Given the description of an element on the screen output the (x, y) to click on. 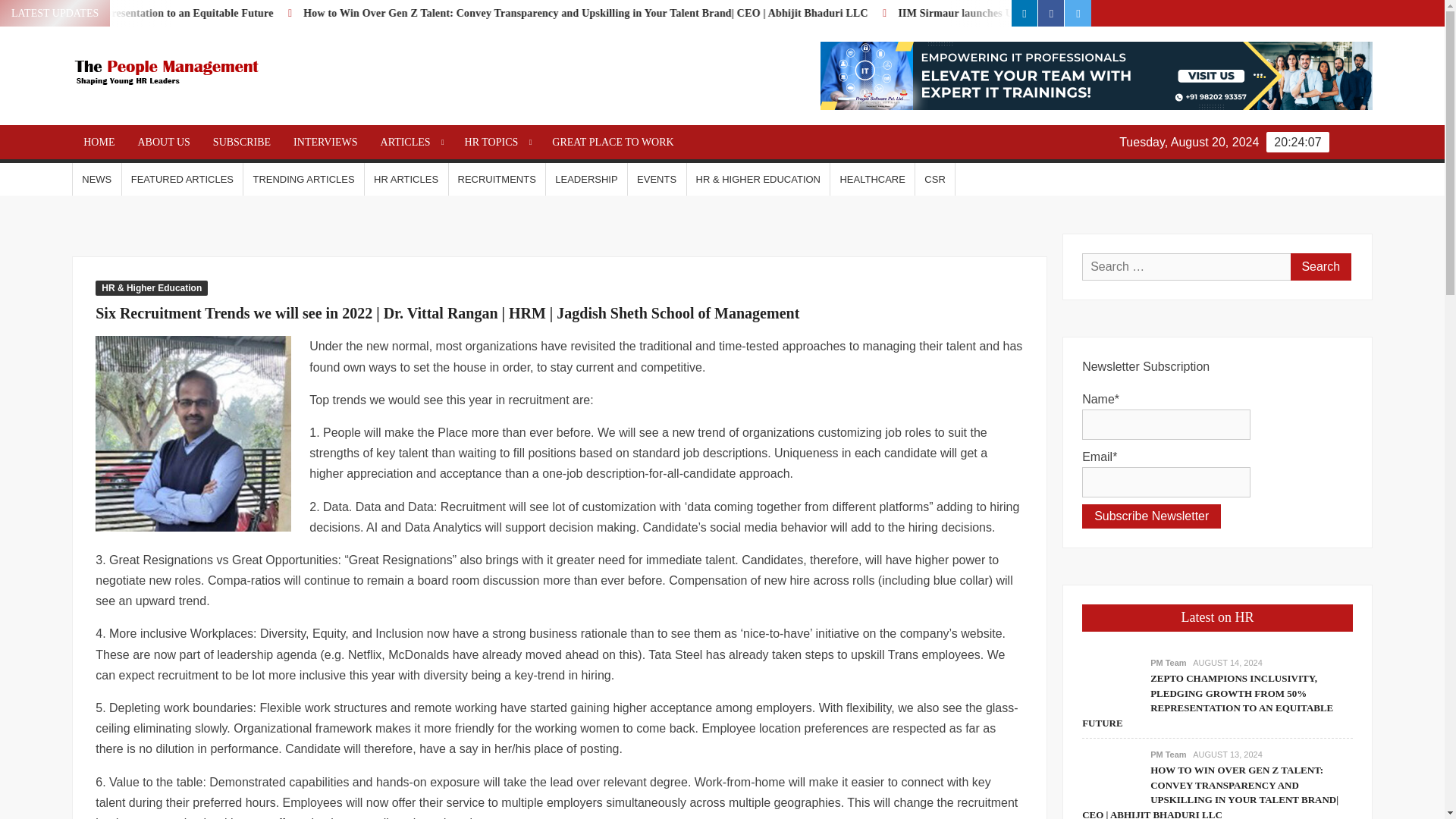
Search (1320, 266)
Search (1320, 266)
Subscribe Newsletter (1151, 516)
